Given the description of an element on the screen output the (x, y) to click on. 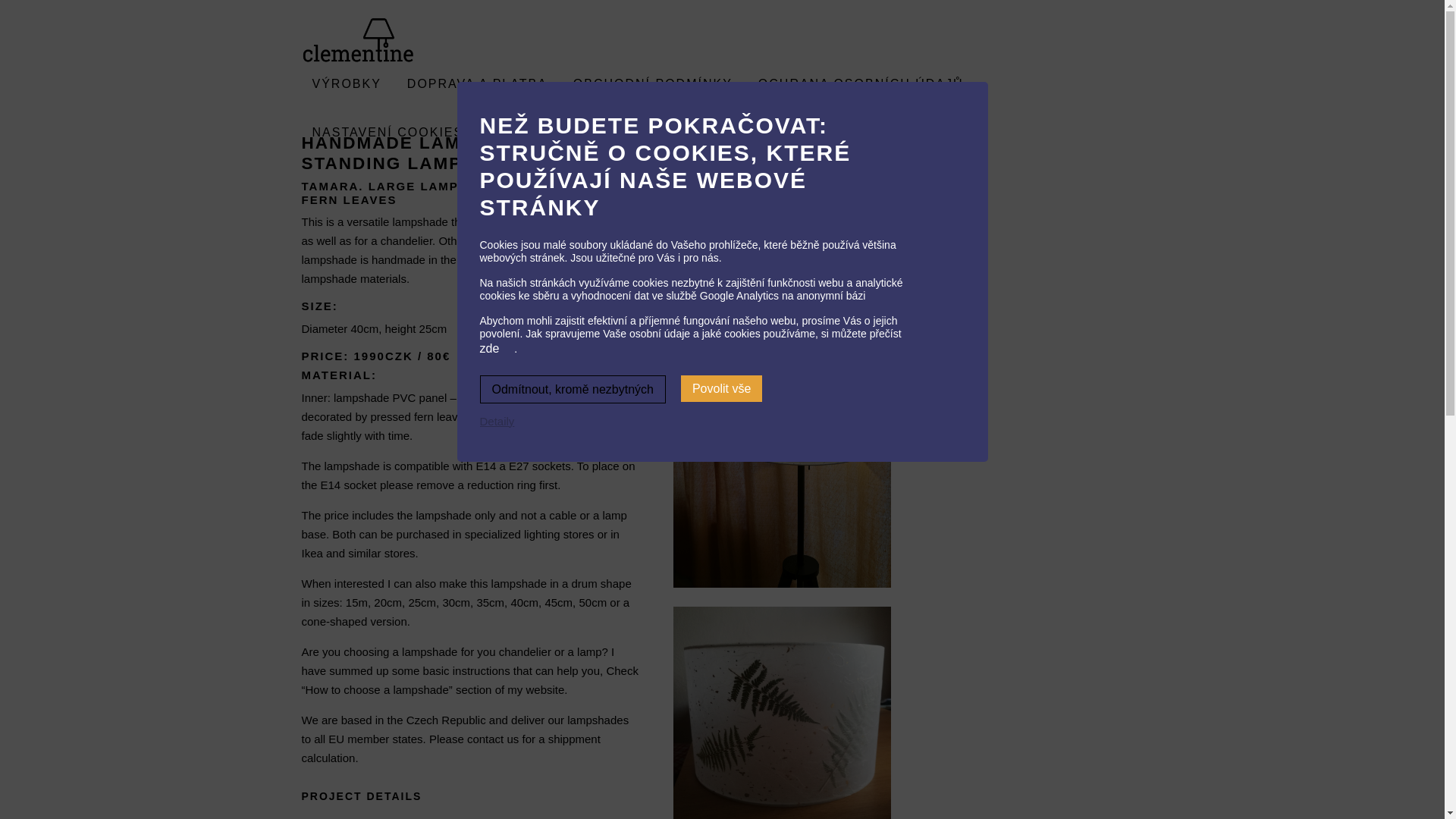
custom lampshade for ikea lamp (781, 241)
DOPRAVA A PLATBA (477, 83)
Detaily (498, 421)
large lampshade for ikea lamp (781, 478)
Detaily (498, 421)
zde (496, 347)
custom chandelier lampshade (781, 712)
